Given the description of an element on the screen output the (x, y) to click on. 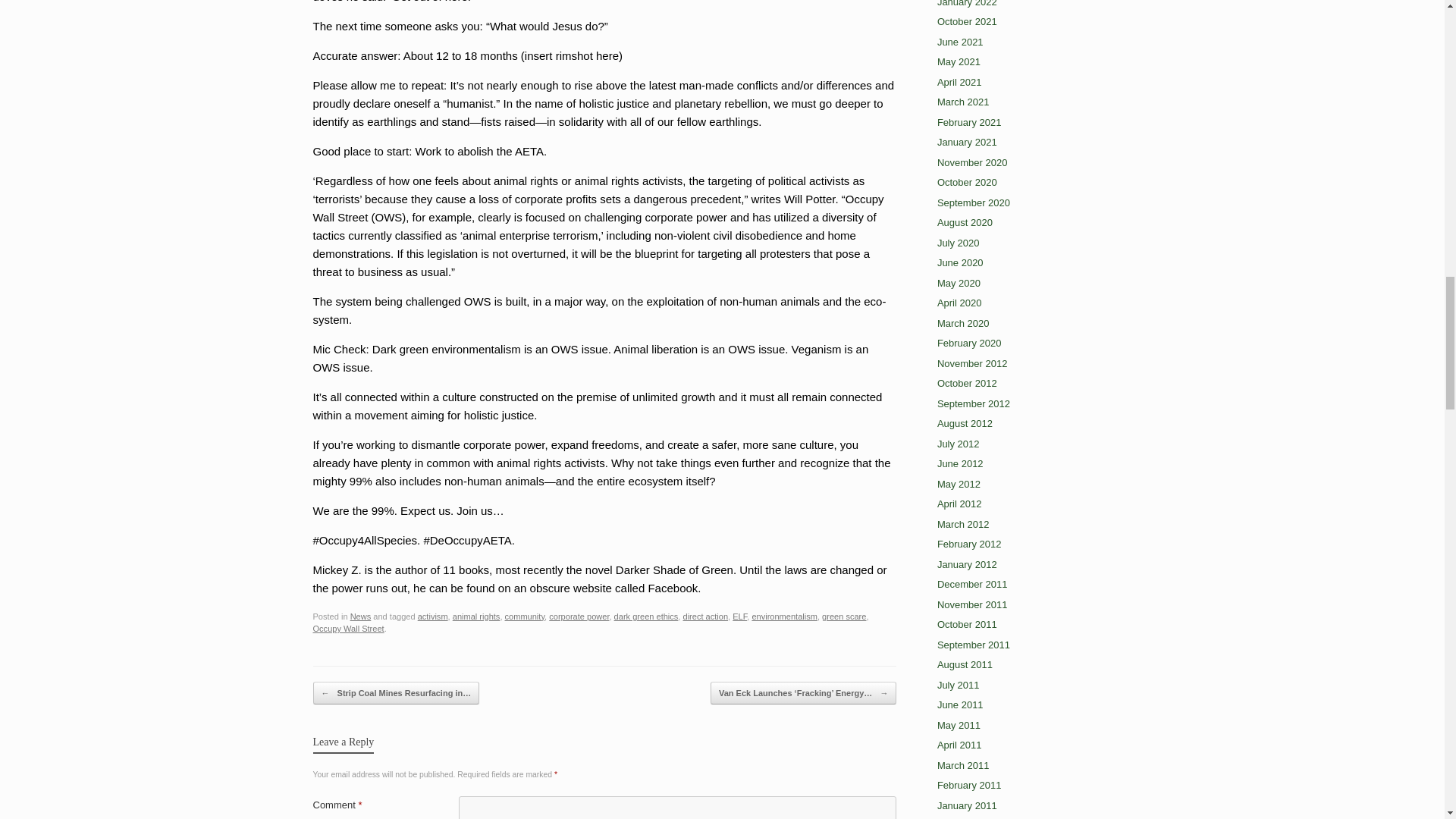
direct action (705, 615)
ELF (739, 615)
animal rights (476, 615)
green scare (844, 615)
activism (432, 615)
News (360, 615)
dark green ethics (646, 615)
community (524, 615)
Occupy Wall Street (348, 628)
environmentalism (783, 615)
